Given the description of an element on the screen output the (x, y) to click on. 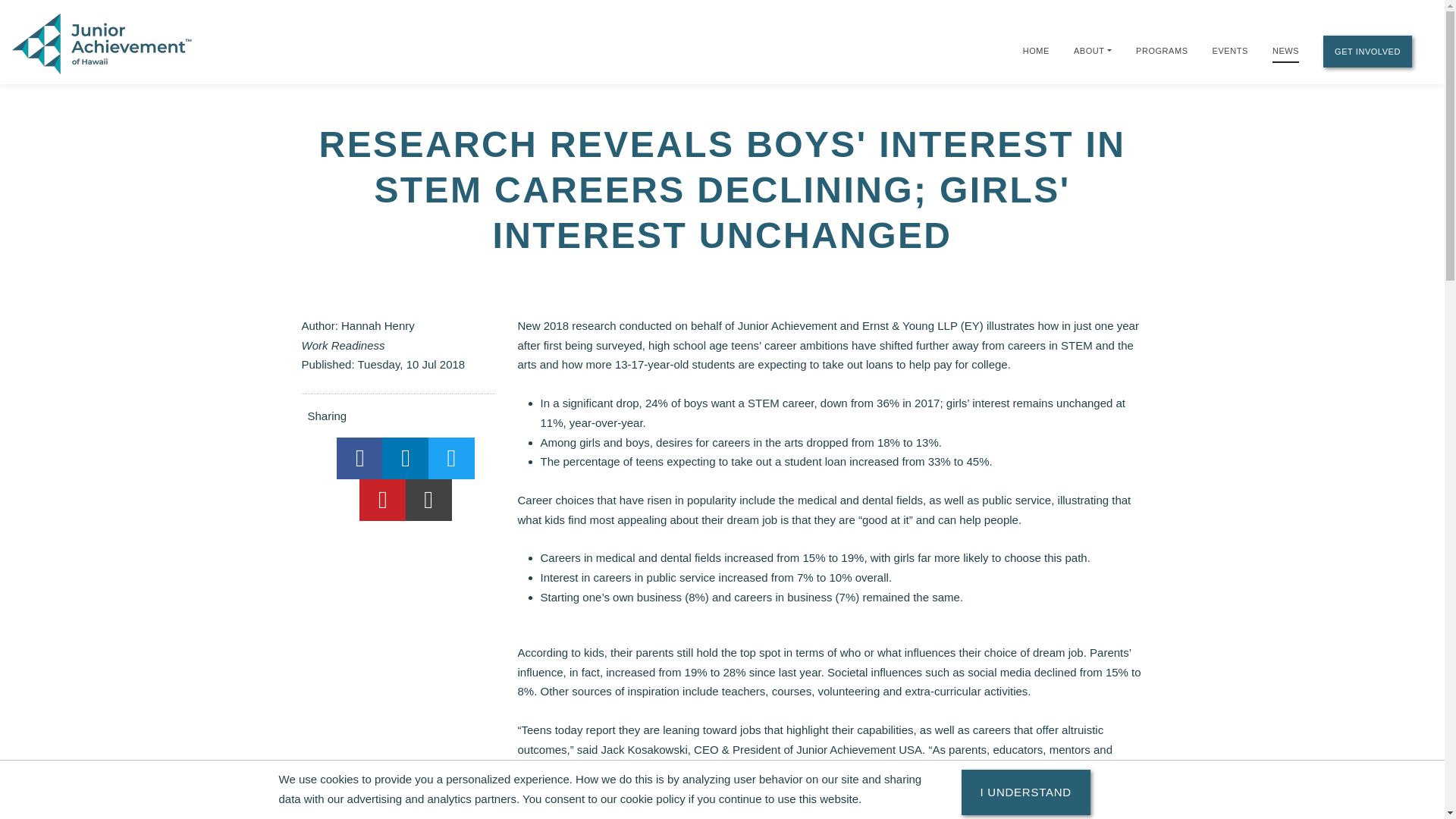
PROGRAMS (1161, 50)
NEWS (1285, 51)
Go to Programs page (1161, 50)
Go to News page (1285, 51)
Go to home page for Junior Achievement of Hawaii (103, 42)
ABOUT (1088, 50)
Go to About page (1088, 50)
Go to Get Involved page (1367, 51)
HOME (1036, 50)
GET INVOLVED (1367, 51)
Go to Home page (1036, 50)
Go to Events page (1229, 50)
EVENTS (1229, 50)
